Given the description of an element on the screen output the (x, y) to click on. 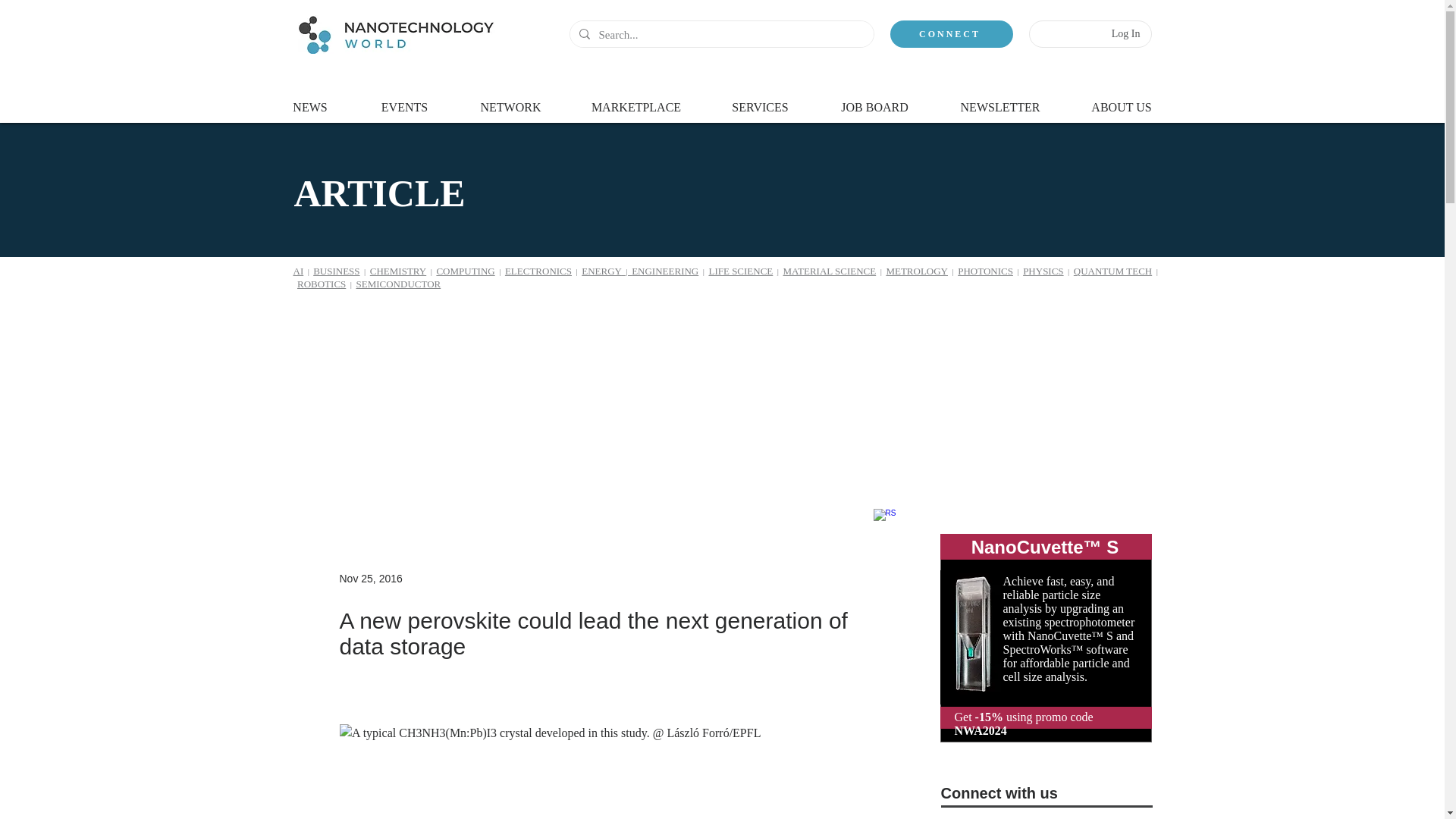
ELECTRONICS (538, 270)
NEWSLETTER (999, 100)
MARKETPLACE (636, 100)
EVENTS (404, 100)
LIFE SCIENCE (740, 270)
NETWORK (510, 100)
MATERIAL SCIENCE (829, 270)
CHEMISTRY (397, 270)
JOB BOARD (873, 100)
Nov 25, 2016 (371, 578)
